Given the description of an element on the screen output the (x, y) to click on. 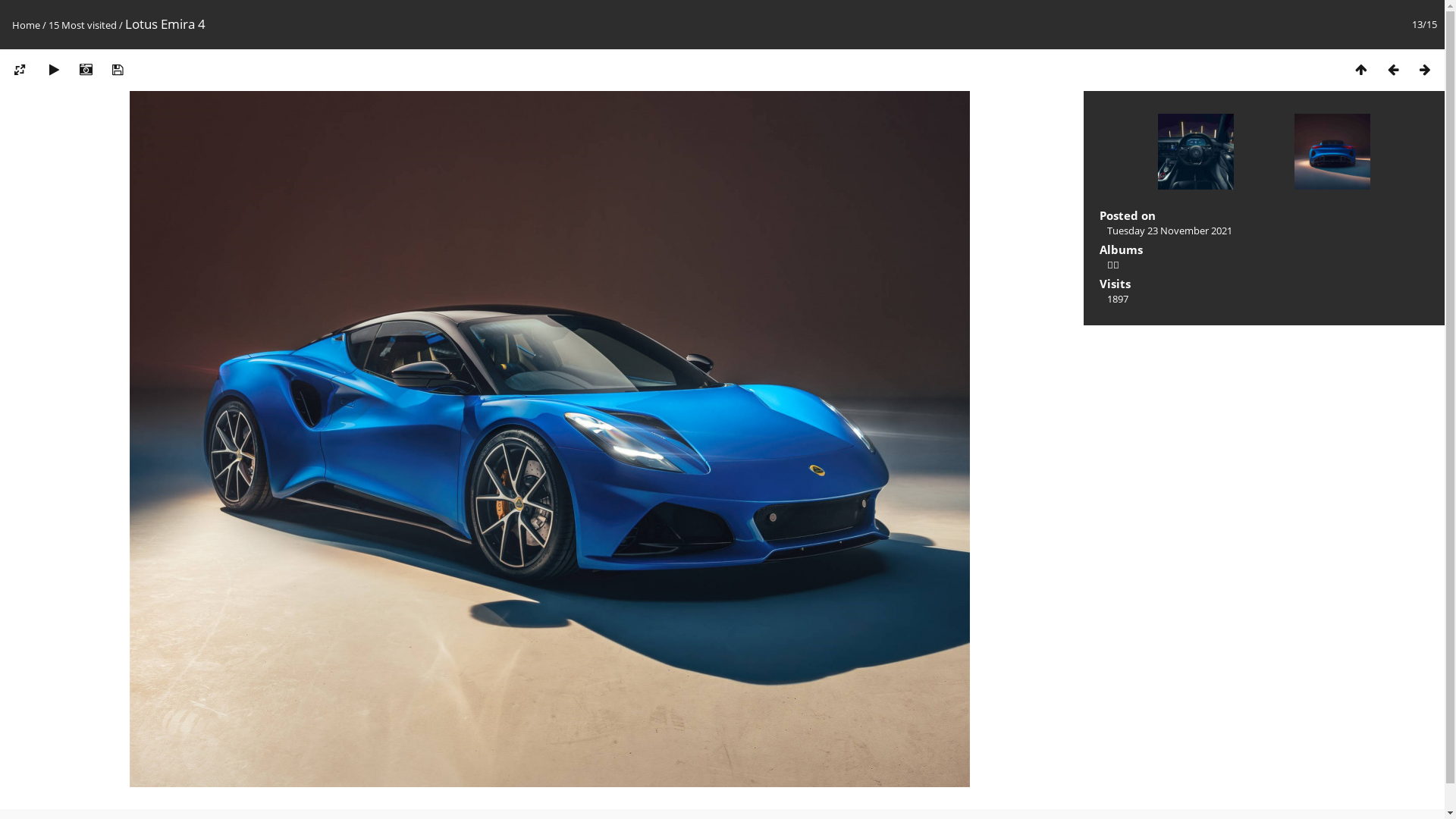
15 Most visited Element type: text (82, 24)
Thumbnails Element type: hover (1361, 69)
Lotus Emira 4 - Lotus Emira 4.jpeg Element type: hover (549, 439)
Photo sizes Element type: hover (19, 69)
Download this file Element type: hover (117, 69)
slideshow Element type: hover (53, 69)
Next : Lotus Emira 5 Element type: hover (1332, 152)
Home Element type: text (26, 24)
Show file metadata Element type: hover (85, 69)
Previous : Lotus Emira 9 Element type: hover (1392, 69)
Next : Lotus Emira 5 Element type: hover (1424, 69)
Tuesday 23 November 2021 Element type: text (1169, 230)
Previous : Lotus Emira 9 Element type: hover (1195, 152)
